Given the description of an element on the screen output the (x, y) to click on. 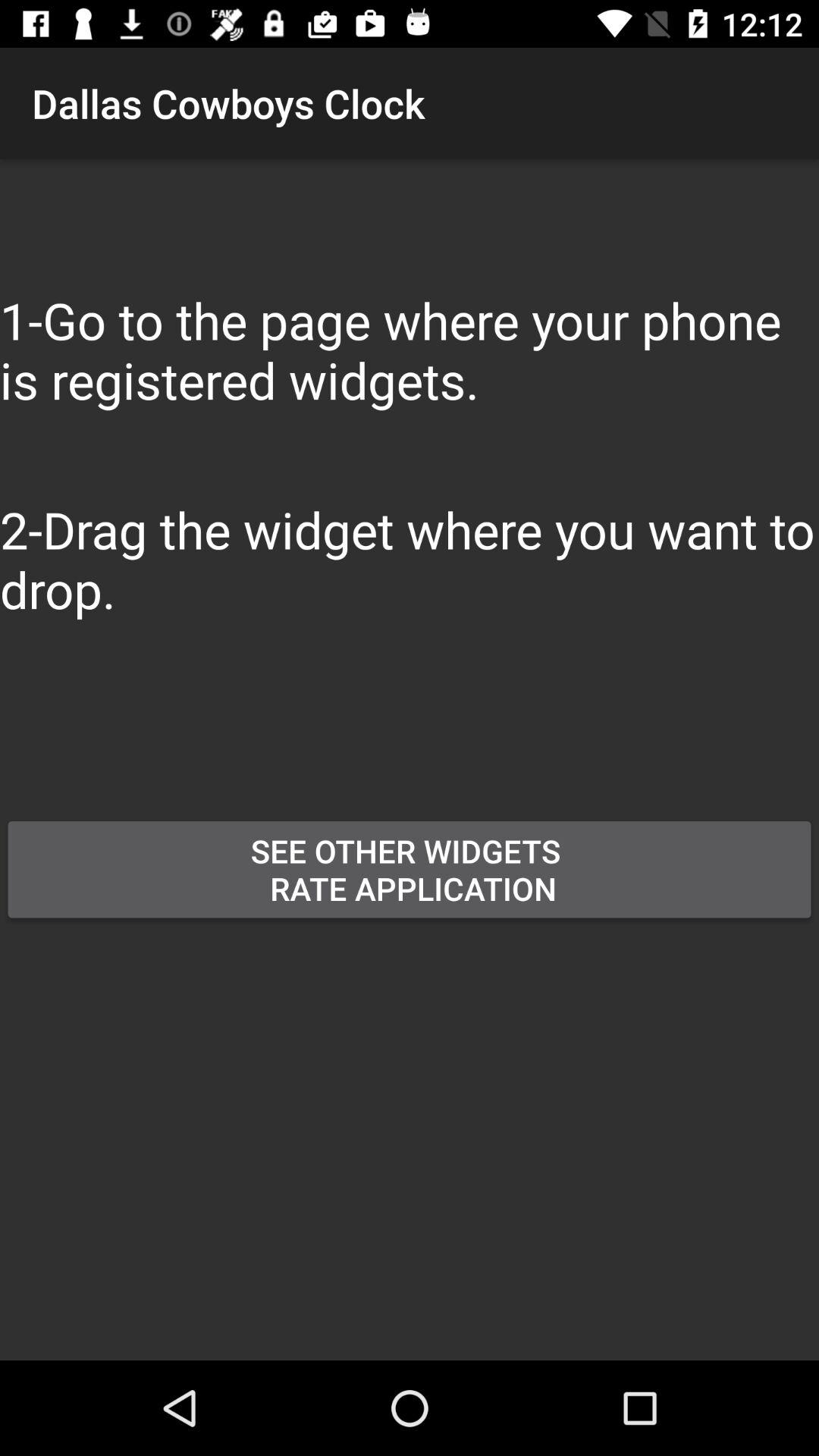
tap see other widgets (409, 869)
